Given the description of an element on the screen output the (x, y) to click on. 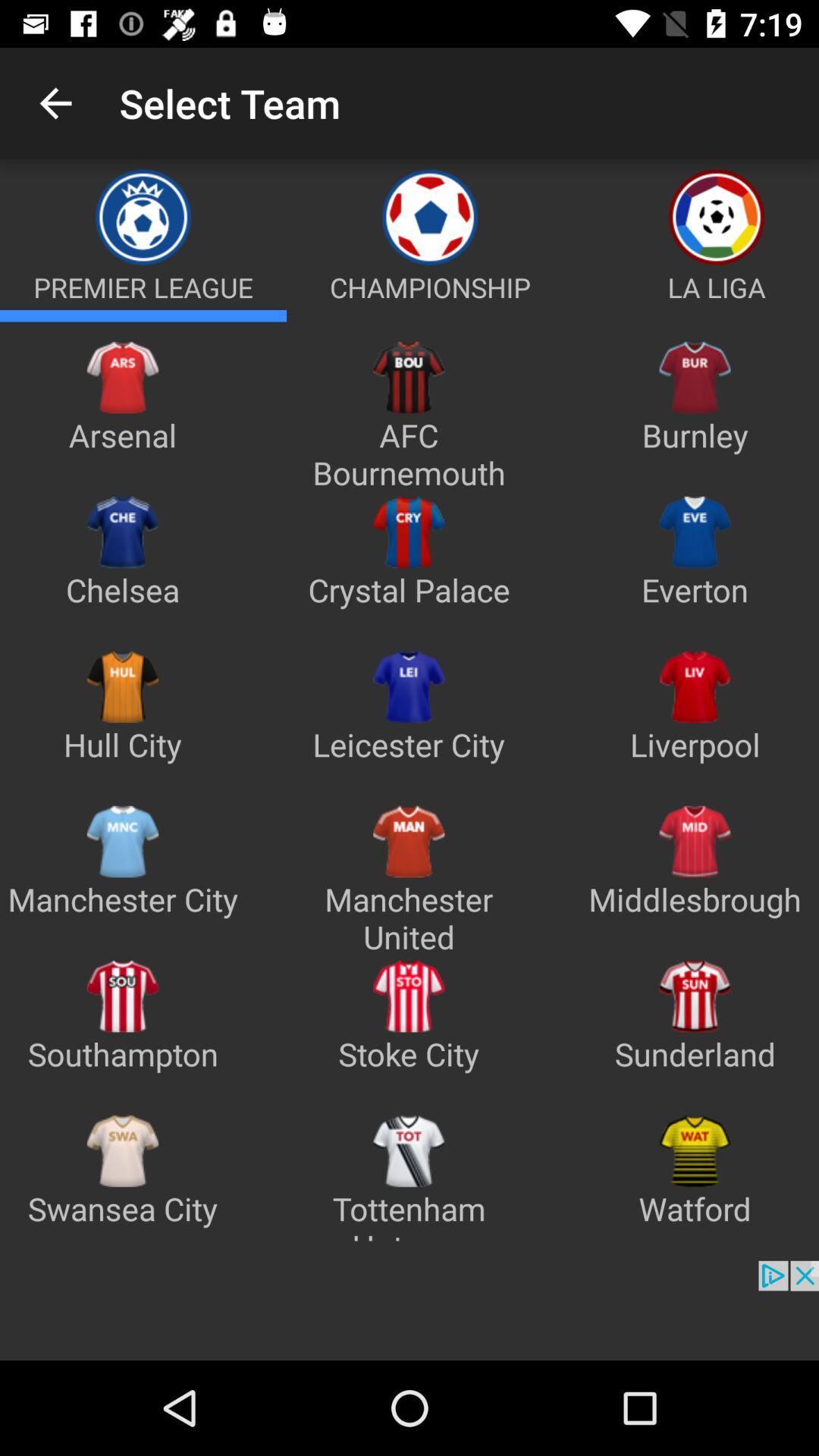
showing the advertisement (409, 1310)
